Given the description of an element on the screen output the (x, y) to click on. 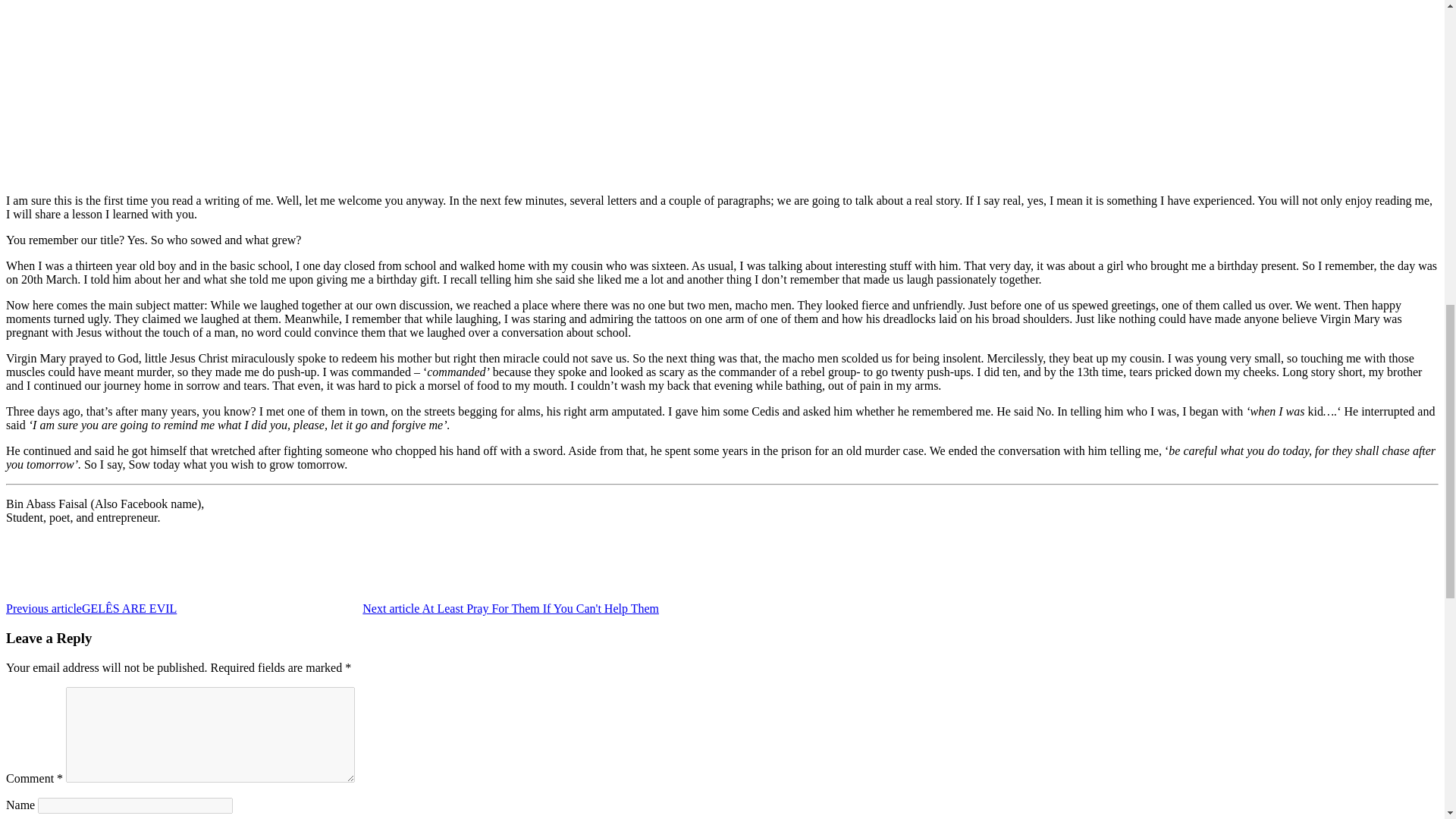
Next article At Least Pray For Them If You Can't Help Them (603, 608)
